Given the description of an element on the screen output the (x, y) to click on. 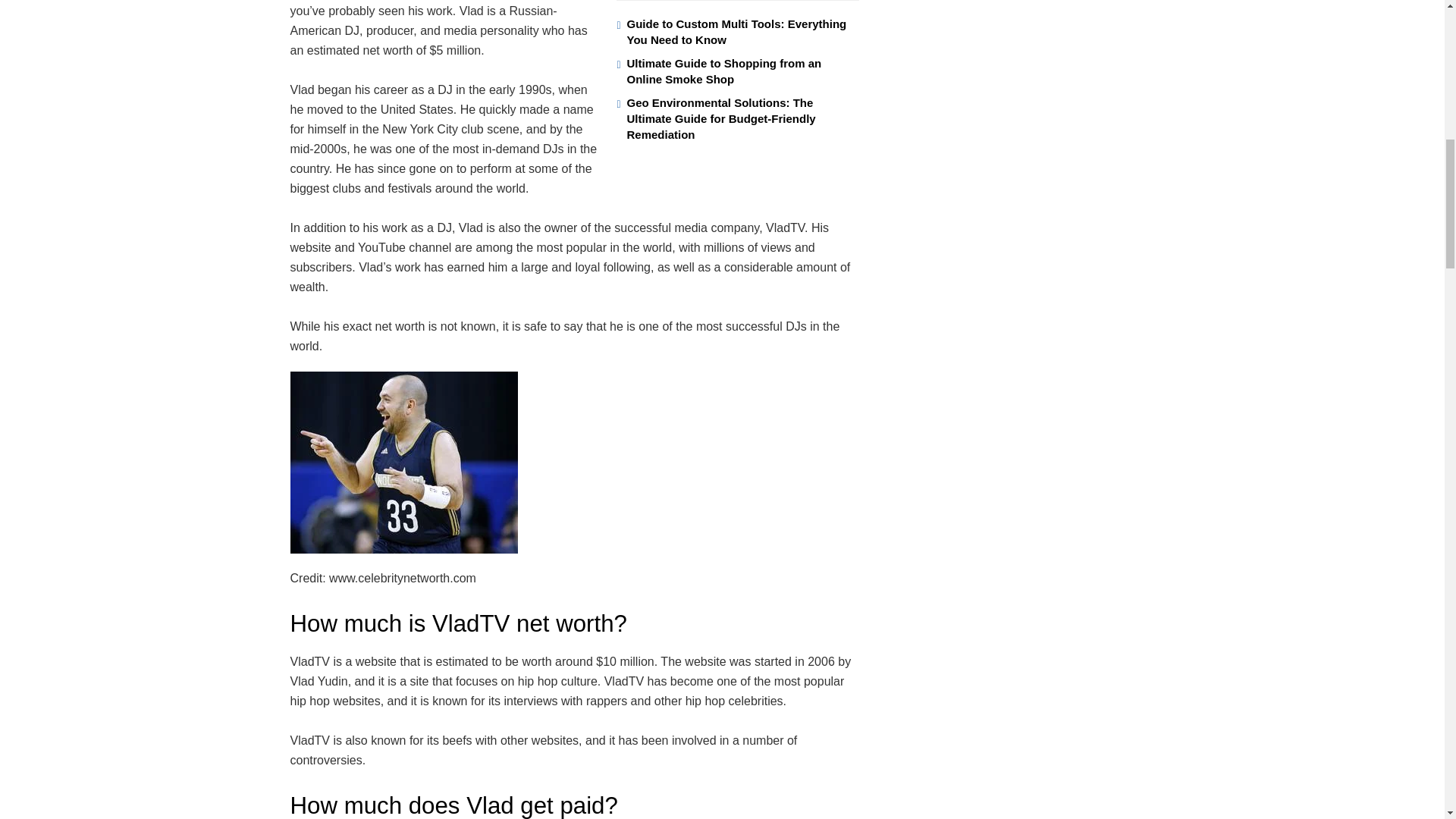
Dj Vlad Net Worth (402, 462)
